Given the description of an element on the screen output the (x, y) to click on. 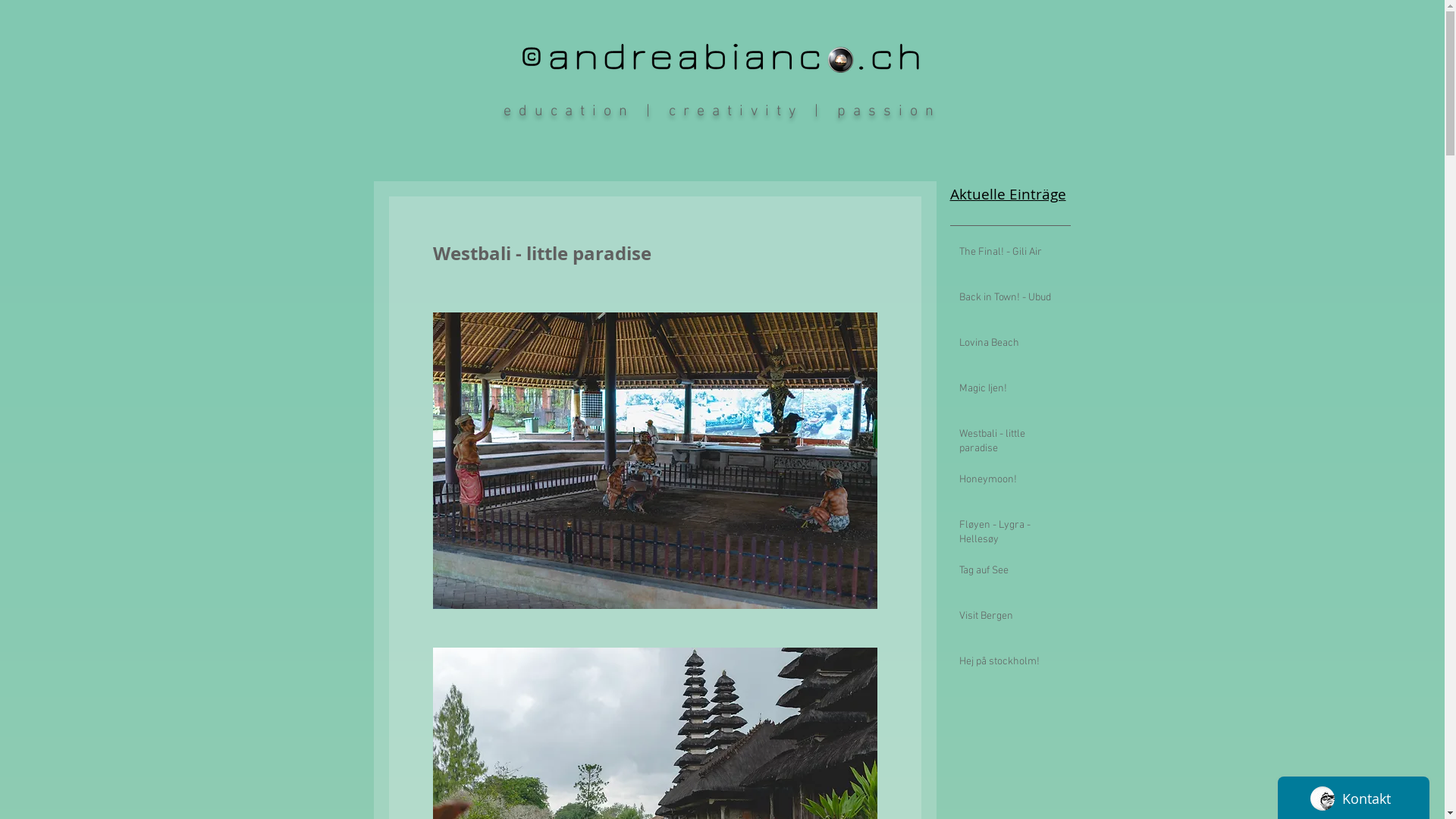
Westbali - little paradise Element type: text (1004, 444)
The Final! - Gili Air Element type: text (1004, 255)
Back in Town! - Ubud Element type: text (1004, 300)
Visit Bergen Element type: text (1004, 619)
Magic Ijen! Element type: text (1004, 391)
Honeymoon! Element type: text (1004, 482)
Tag auf See Element type: text (1004, 573)
Lovina Beach Element type: text (1004, 346)
